Given the description of an element on the screen output the (x, y) to click on. 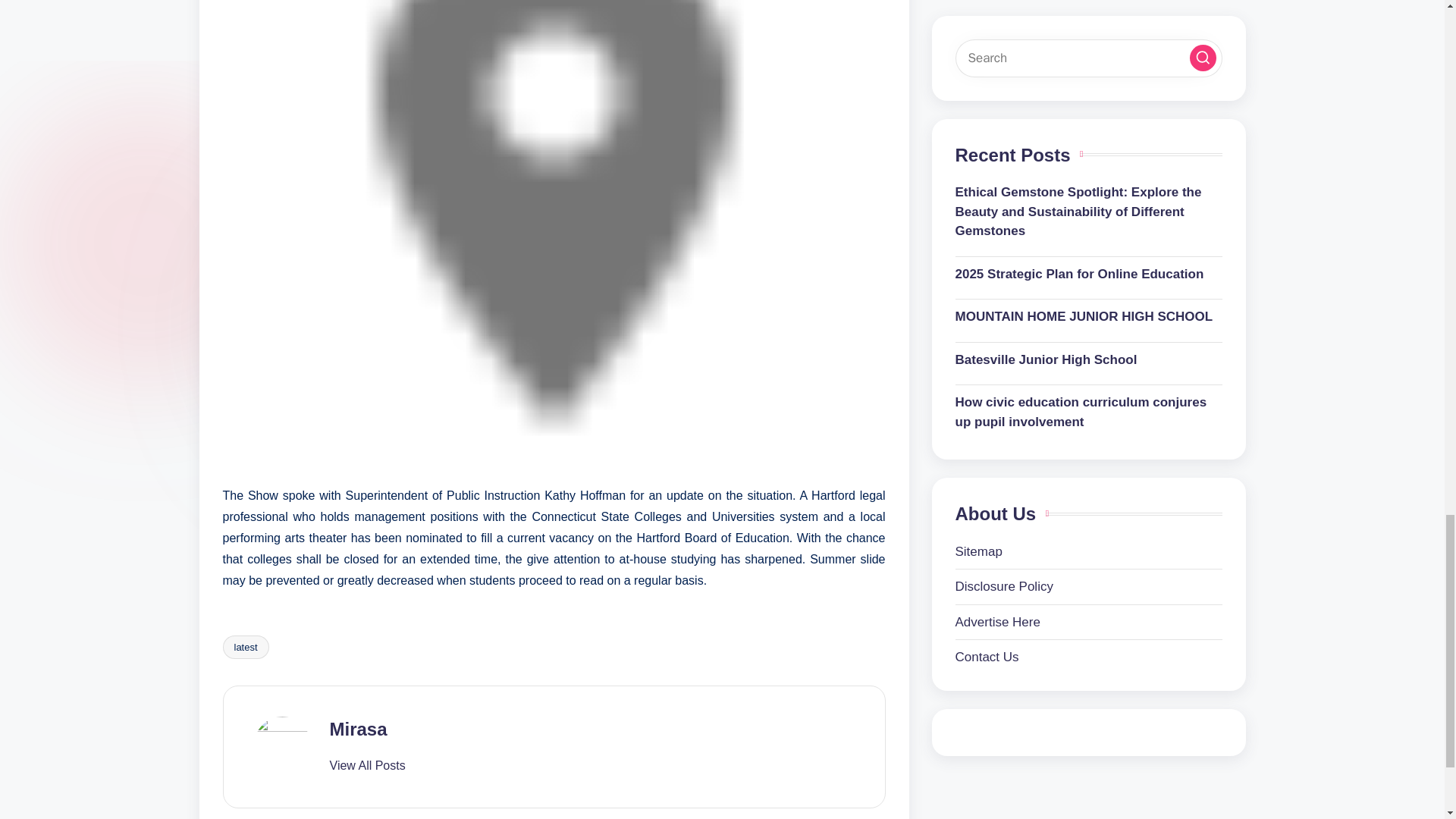
Mirasa (358, 729)
latest (245, 647)
View All Posts (366, 766)
